Given the description of an element on the screen output the (x, y) to click on. 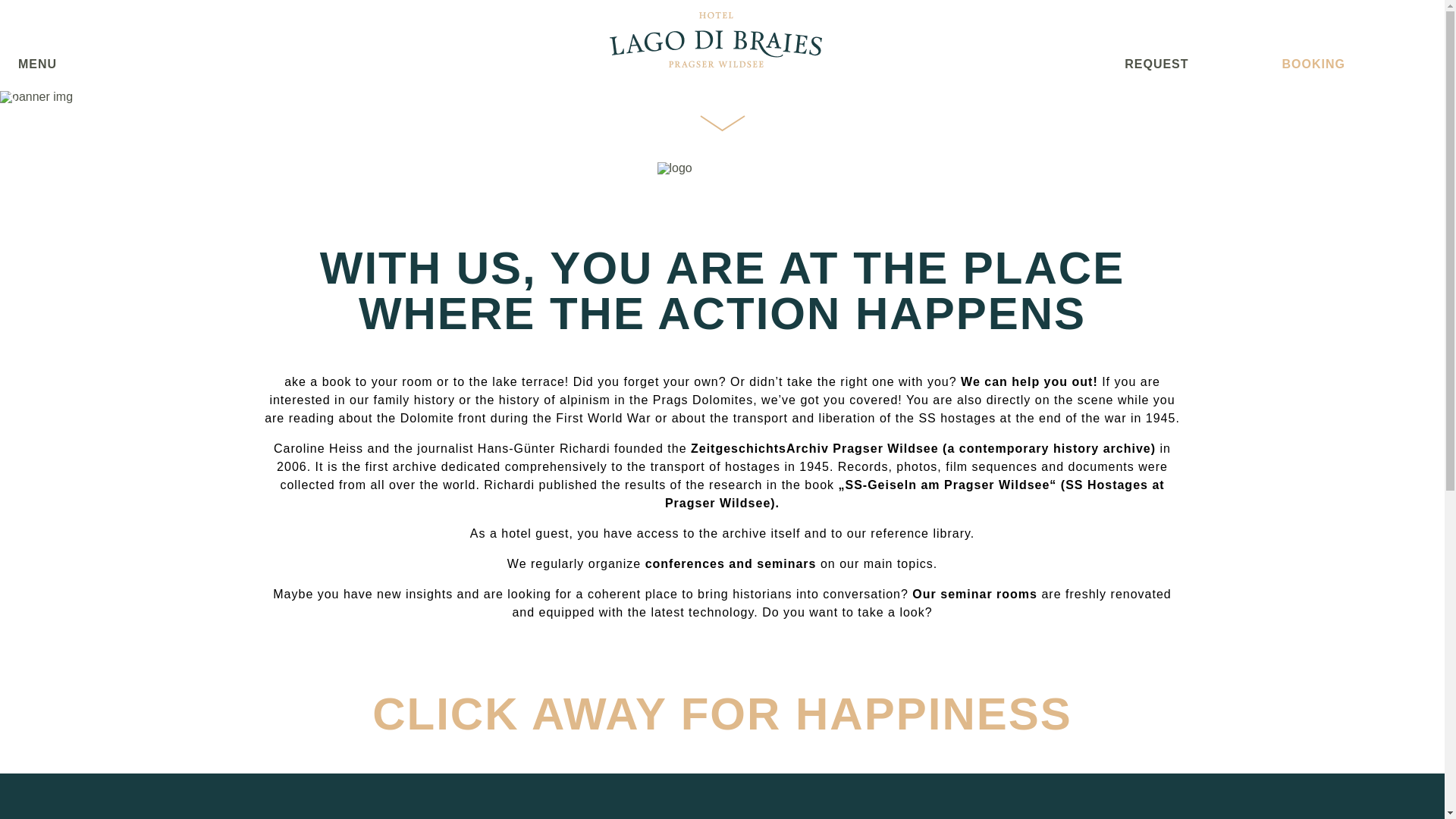
REQUEST (1156, 64)
MENU (36, 64)
BOOKING (1313, 64)
